Given the description of an element on the screen output the (x, y) to click on. 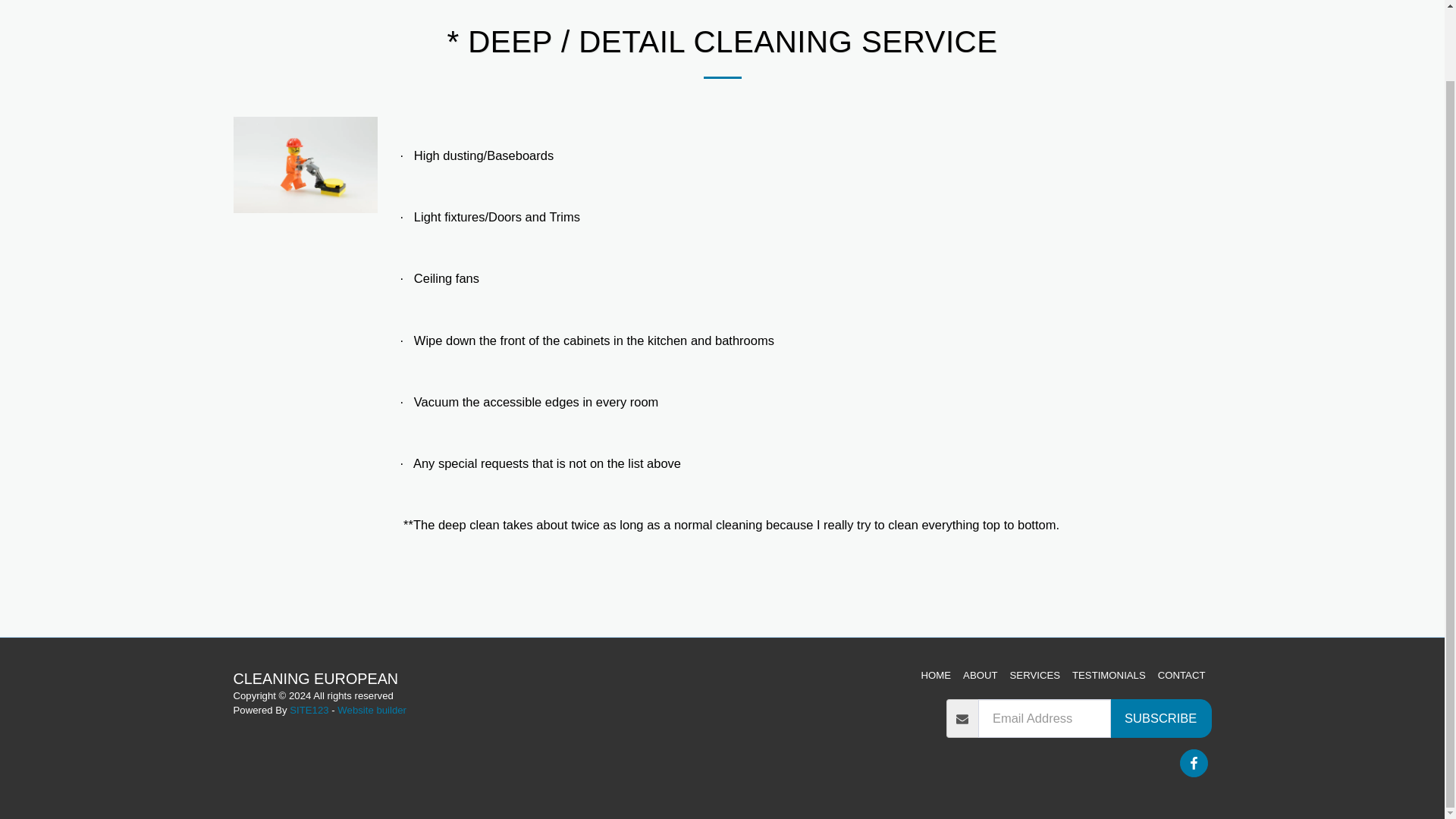
SUBSCRIBE (1160, 718)
ABOUT (979, 675)
Website builder (371, 709)
SERVICES (1034, 675)
TESTIMONIALS (1108, 675)
HOME (936, 675)
CONTACT (1181, 675)
SITE123 (309, 709)
